Given the description of an element on the screen output the (x, y) to click on. 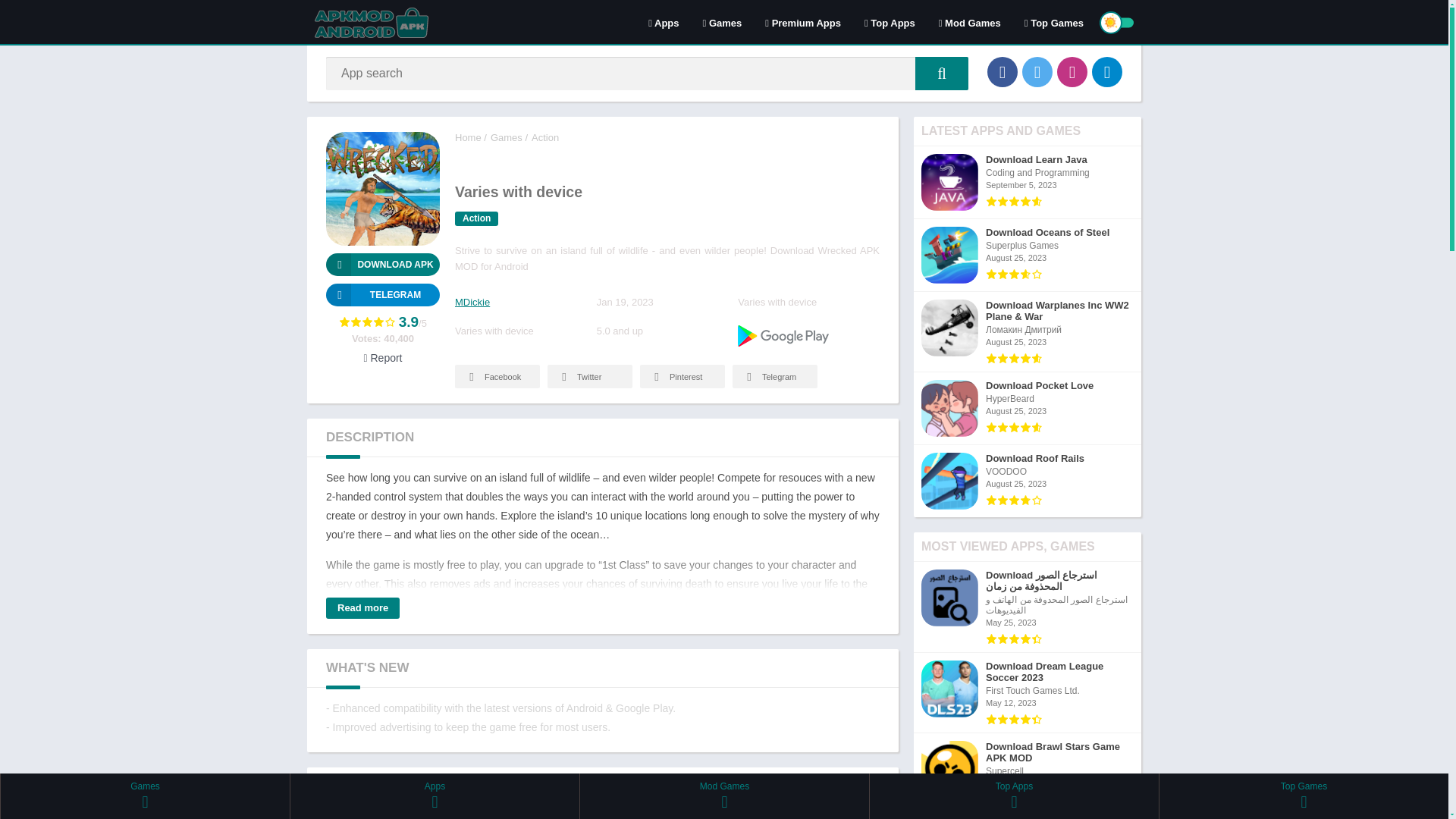
MDickie (471, 301)
Home (467, 137)
Telegram (774, 376)
DOWNLOAD APK (382, 264)
Facebook (497, 376)
Facebook (1002, 71)
Read more (362, 608)
Action (545, 137)
Games (722, 22)
Telegram (382, 294)
